Given the description of an element on the screen output the (x, y) to click on. 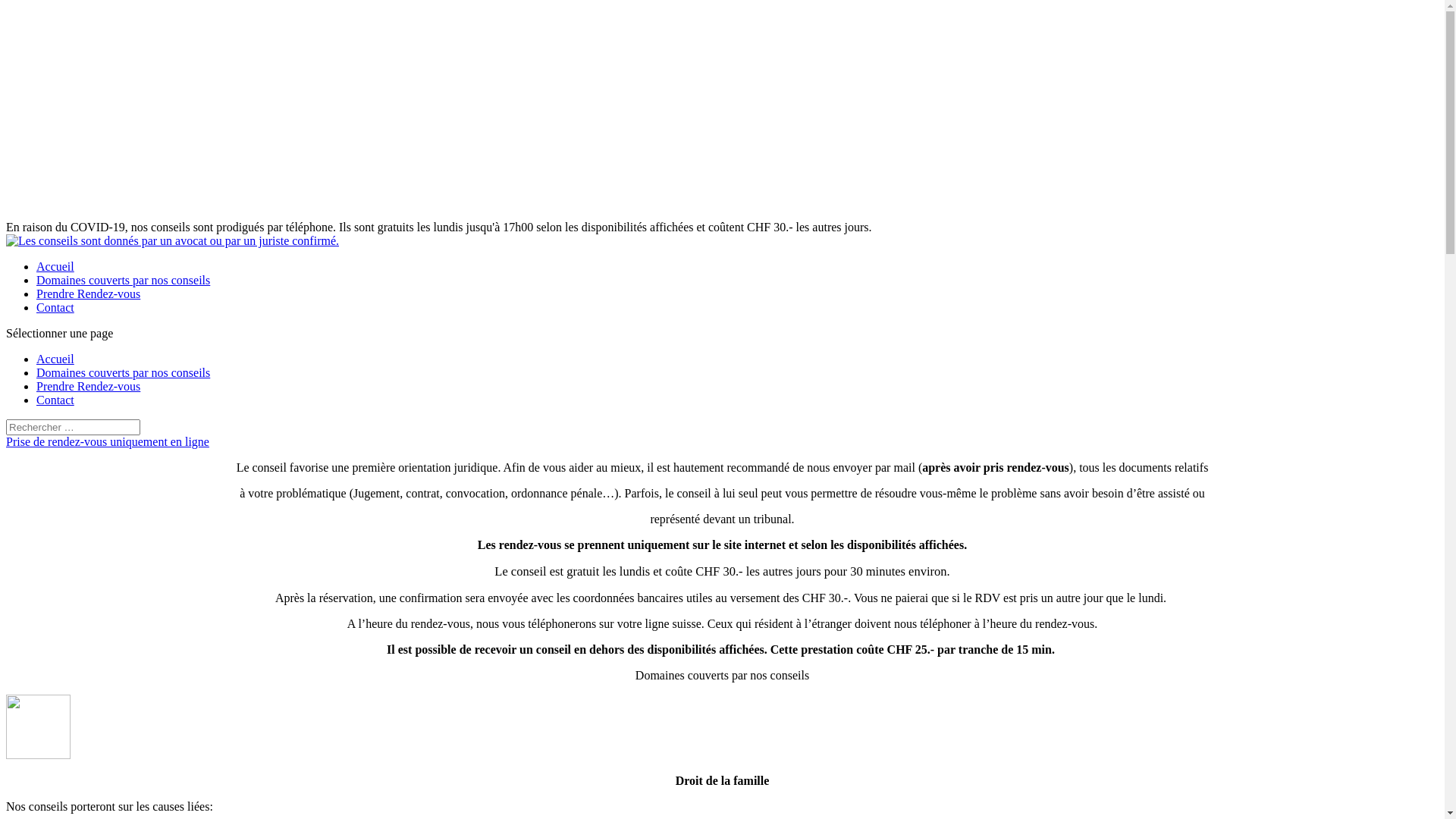
Accueil Element type: text (55, 358)
Accueil Element type: text (55, 266)
Contact Element type: text (55, 307)
Prise de rendez-vous uniquement en ligne Element type: text (107, 441)
Rechercher: Element type: hover (73, 427)
Domaines couverts par nos conseils Element type: text (123, 279)
Prendre Rendez-vous Element type: text (88, 293)
Prendre Rendez-vous Element type: text (88, 385)
Contact Element type: text (55, 399)
Domaines couverts par nos conseils Element type: text (123, 372)
